Given the description of an element on the screen output the (x, y) to click on. 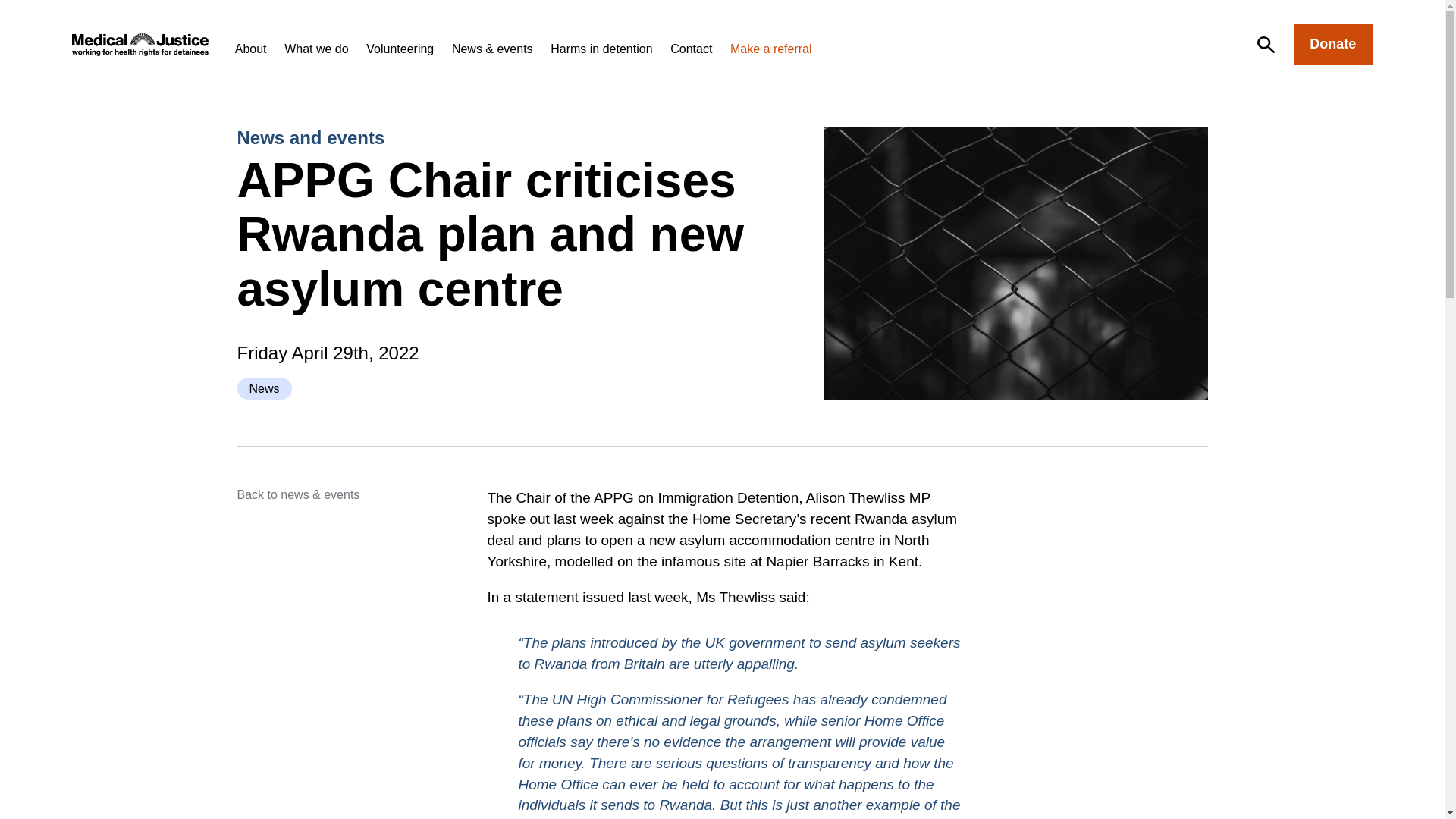
Make a referral (771, 48)
About (250, 48)
News and events (309, 138)
Donate (1333, 44)
Volunteering (399, 48)
Harms in detention (601, 48)
Contact (690, 48)
Skip to content (16, 11)
What we do (315, 48)
